Given the description of an element on the screen output the (x, y) to click on. 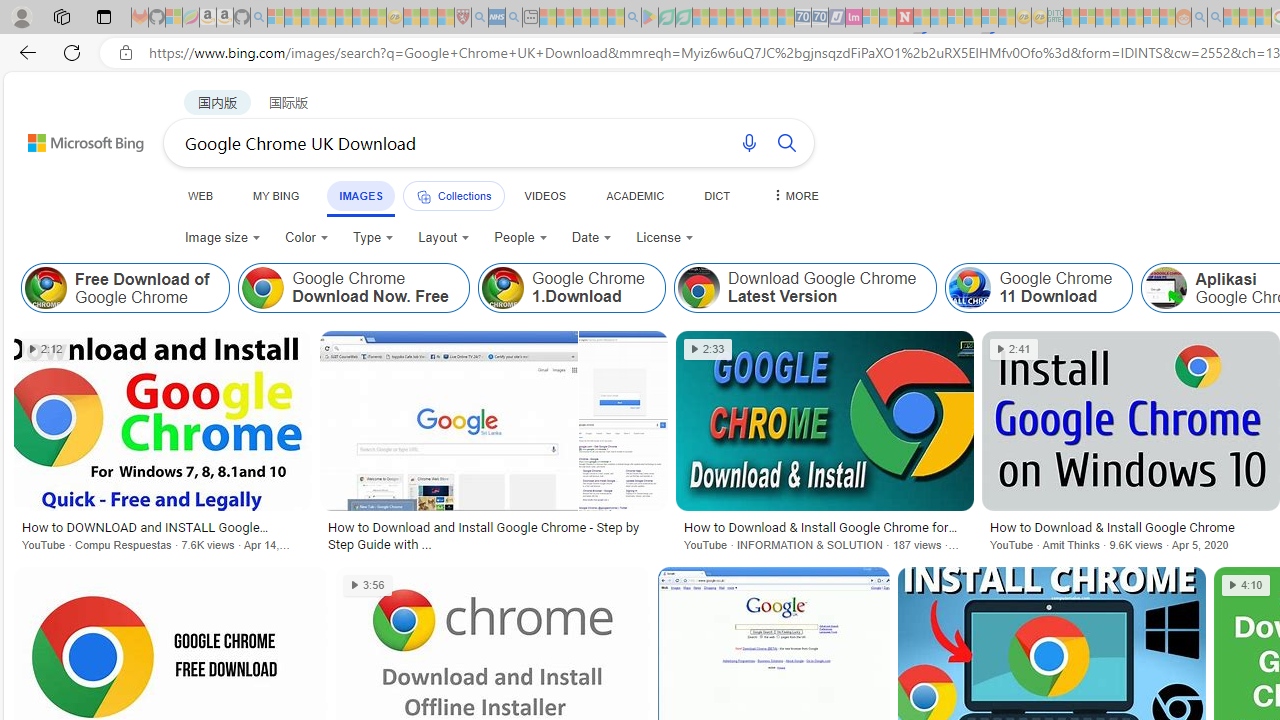
Image result for Google Chrome UK Download (1130, 421)
Free Download of Google Chrome (45, 287)
DICT (717, 195)
Class: b_pri_nav_svg (423, 196)
Image size (221, 237)
Color (305, 237)
Download Google Chrome Latest Version (698, 287)
ACADEMIC (635, 195)
3:56 (368, 585)
